Given the description of an element on the screen output the (x, y) to click on. 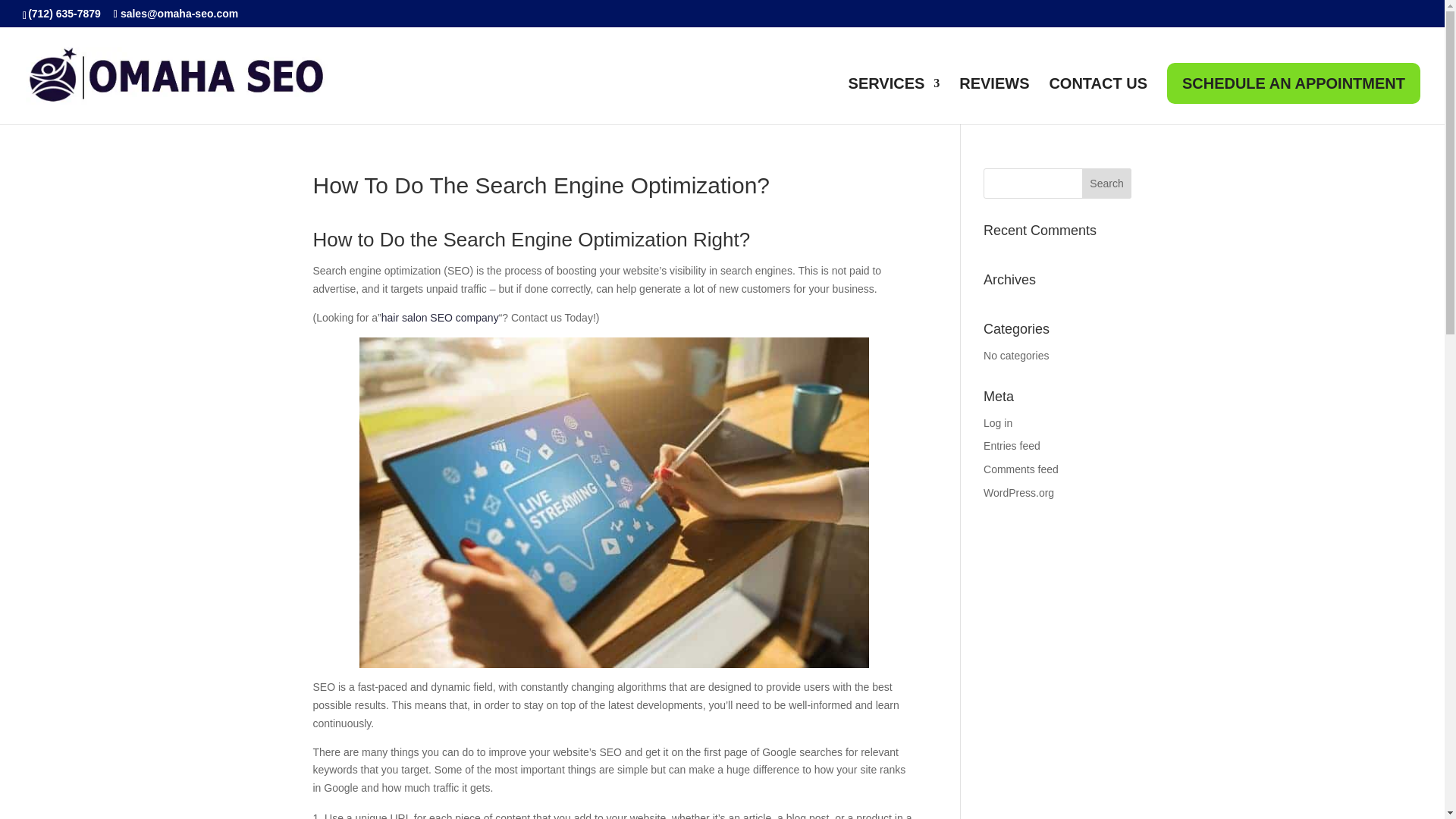
Search (1106, 183)
CONTACT US (1097, 100)
WordPress.org (1019, 492)
REVIEWS (994, 100)
hair salon SEO company (440, 317)
Search (1106, 183)
Comments feed (1021, 469)
Log in (997, 422)
SCHEDULE AN APPOINTMENT (1294, 83)
SERVICES (894, 100)
Entries feed (1012, 445)
